Given the description of an element on the screen output the (x, y) to click on. 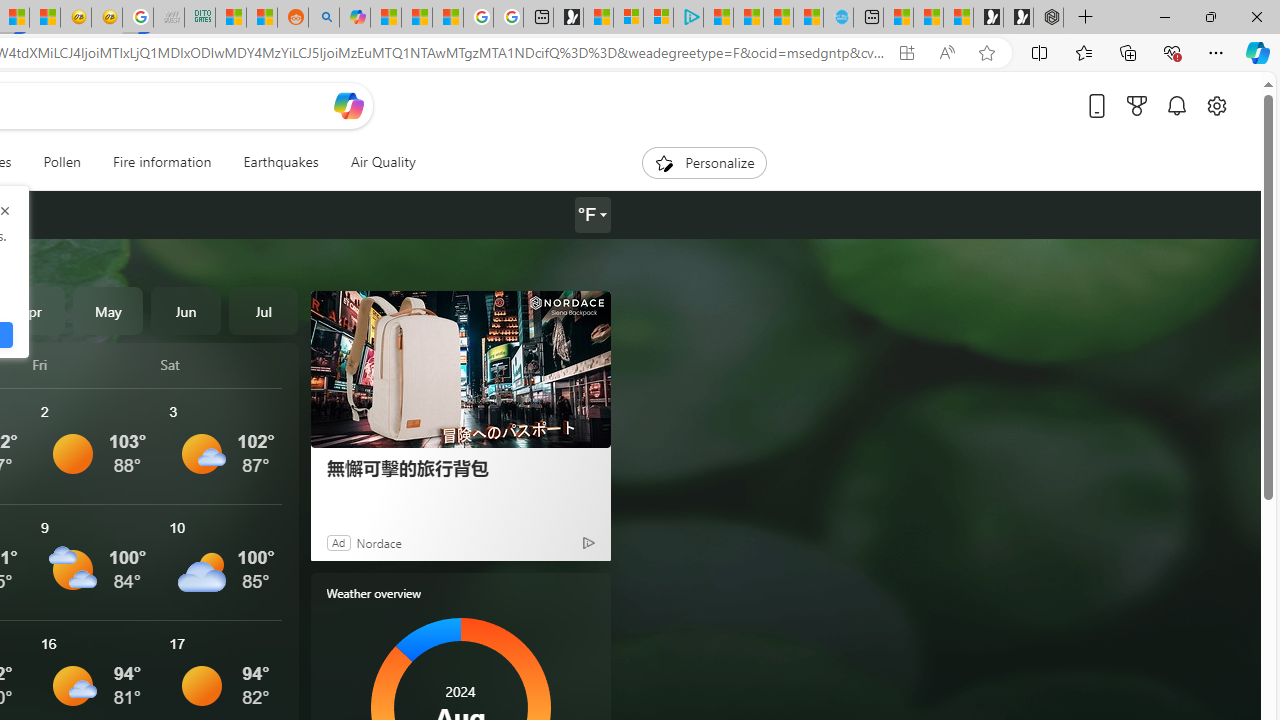
Sat (221, 363)
Fri (93, 363)
May (107, 310)
